Given the description of an element on the screen output the (x, y) to click on. 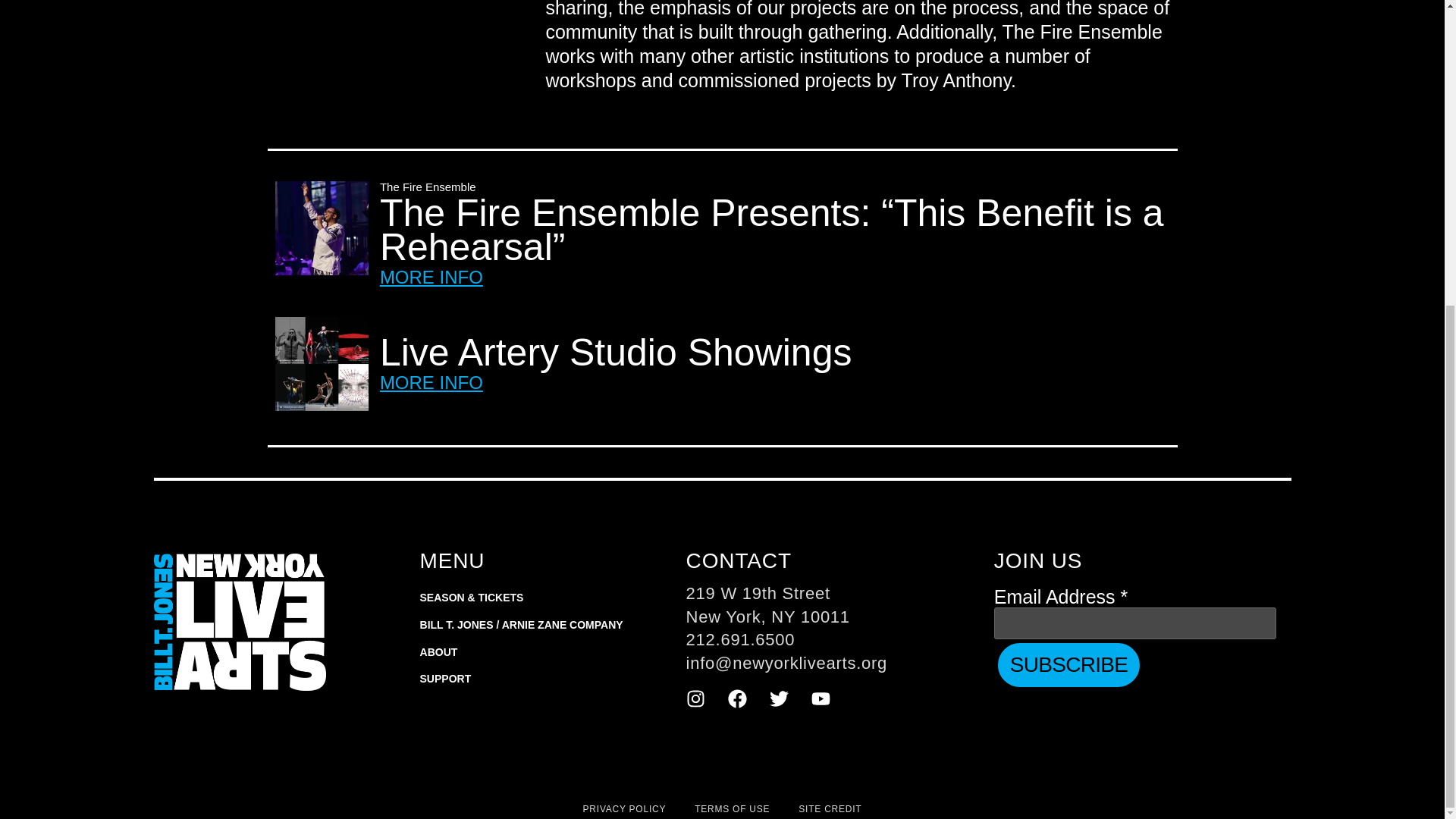
Subscribe (1068, 664)
